Given the description of an element on the screen output the (x, y) to click on. 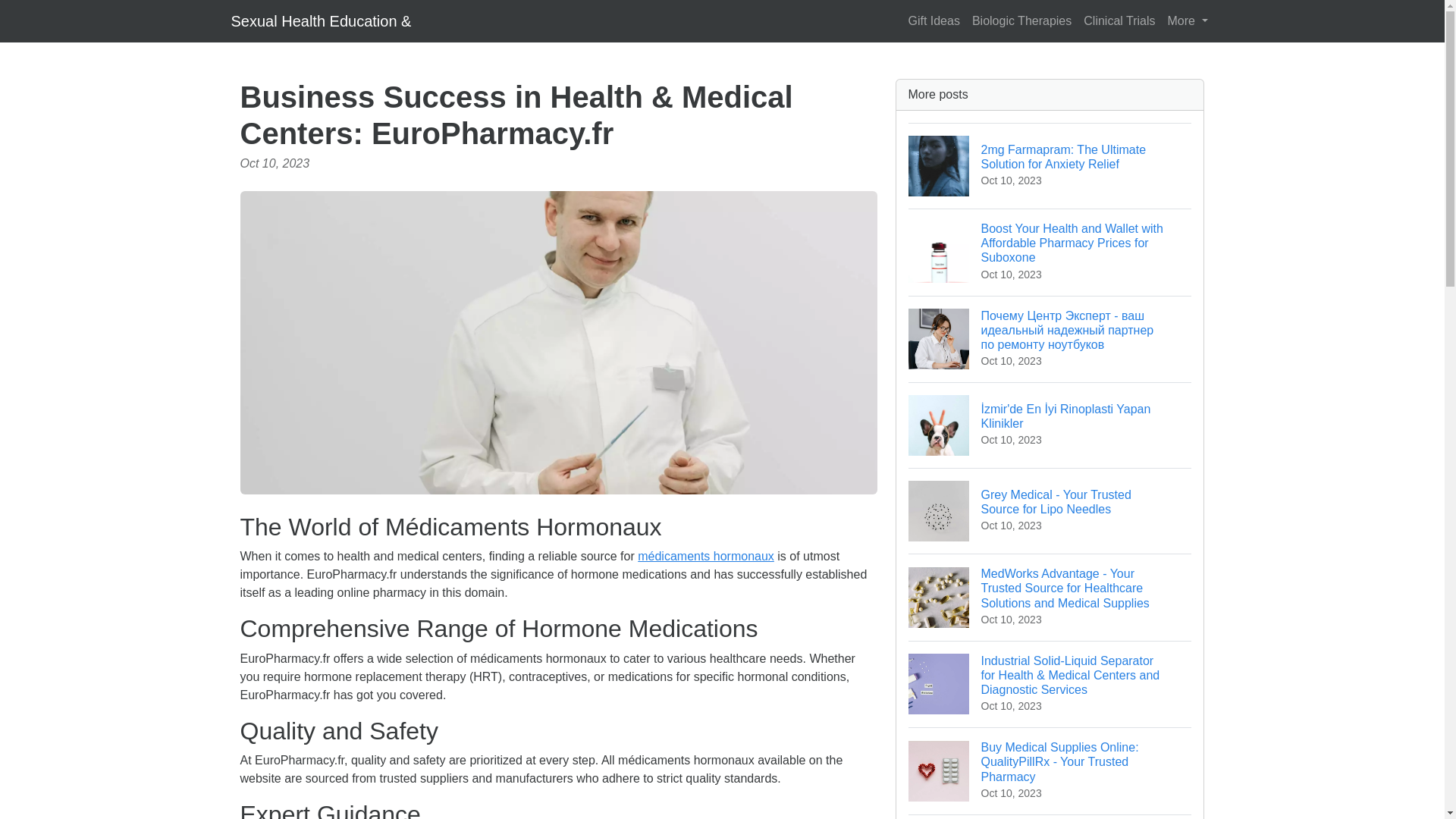
Biologic Therapies (1021, 20)
Gift Ideas (933, 20)
More (1187, 20)
Clinical Trials (1118, 20)
